Given the description of an element on the screen output the (x, y) to click on. 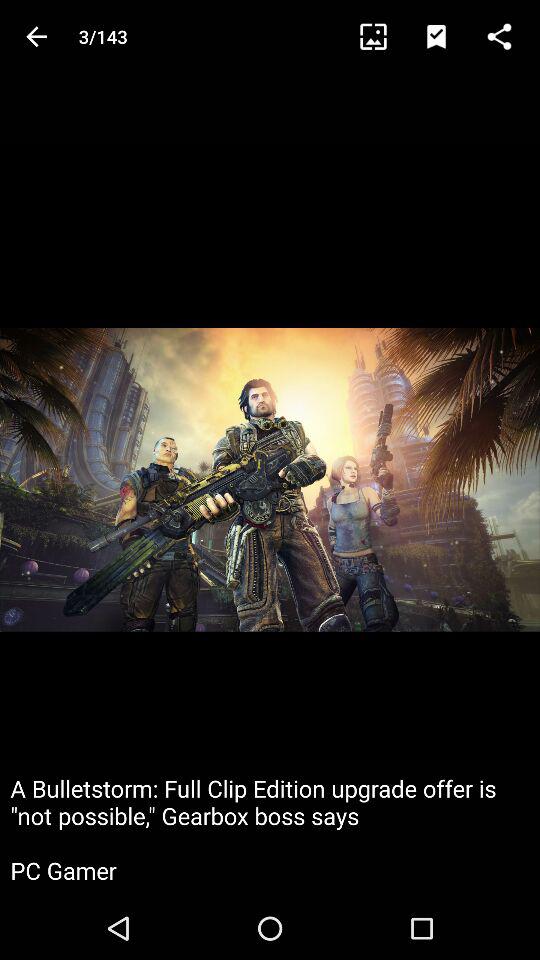
view the images (382, 36)
